Given the description of an element on the screen output the (x, y) to click on. 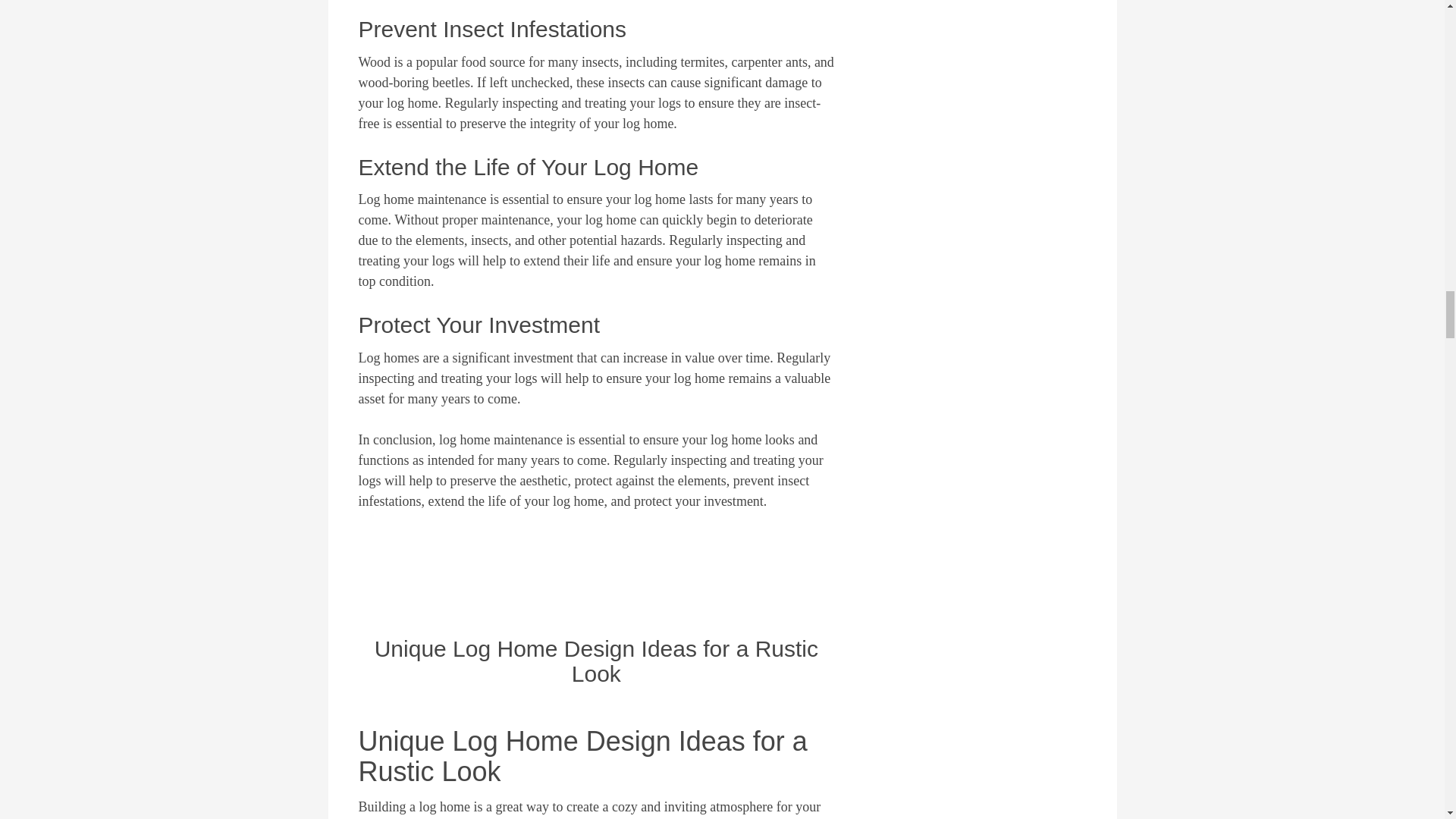
Unique Log Home Design Ideas for a Rustic Look (596, 661)
